Given the description of an element on the screen output the (x, y) to click on. 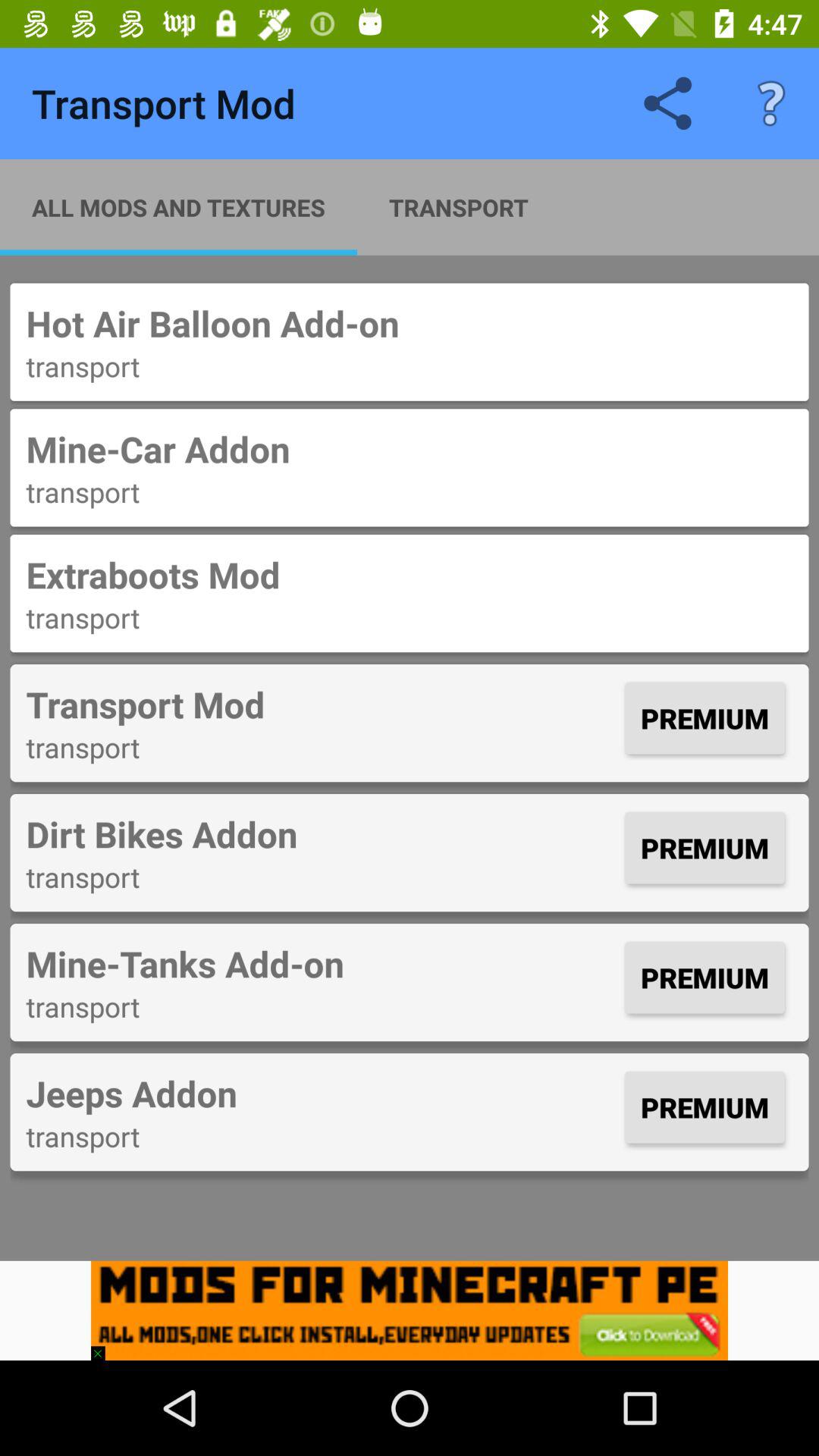
turn off item above the hot air balloon icon (771, 103)
